Given the description of an element on the screen output the (x, y) to click on. 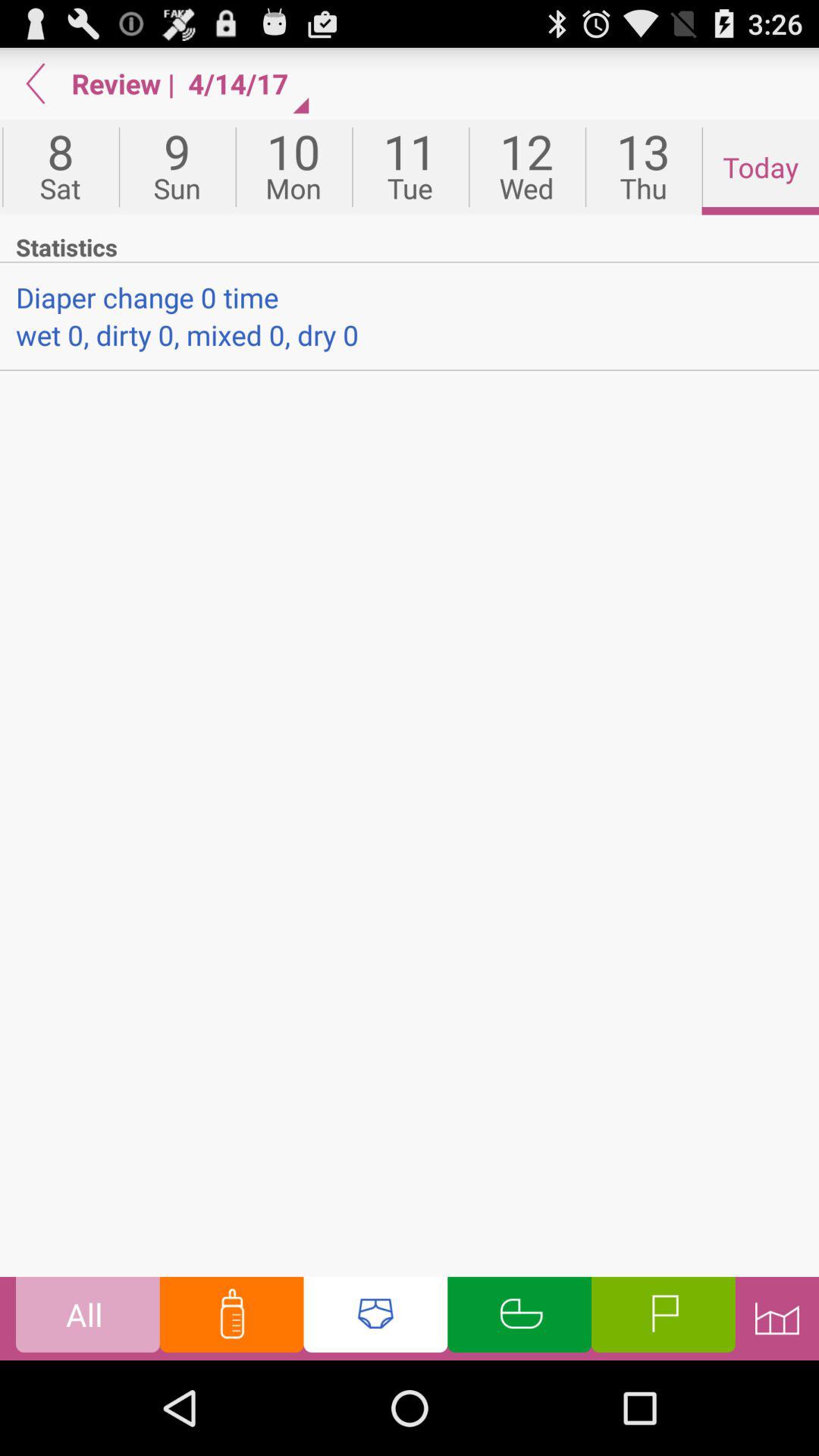
go to flag option (663, 1318)
